Given the description of an element on the screen output the (x, y) to click on. 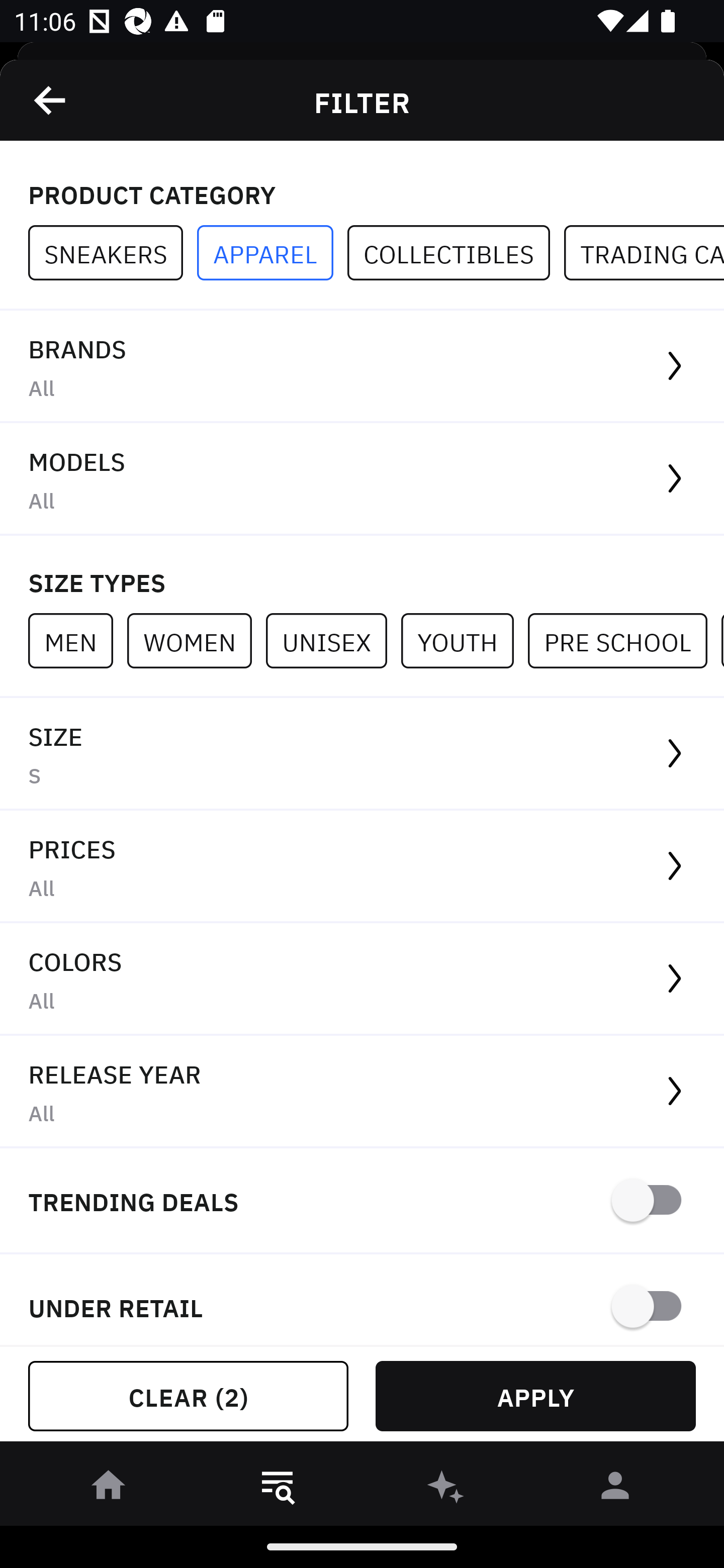
 (50, 100)
SNEAKERS (112, 252)
APPAREL (271, 252)
COLLECTIBLES (455, 252)
TRADING CARDS (643, 252)
BRANDS All (362, 366)
MODELS All (362, 479)
MEN (77, 640)
WOMEN (196, 640)
UNISEX (333, 640)
YOUTH (464, 640)
PRE SCHOOL (624, 640)
SIZE S (362, 753)
PRICES All (362, 866)
COLORS All (362, 979)
RELEASE YEAR All (362, 1091)
TRENDING DEALS (362, 1200)
UNDER RETAIL (362, 1299)
CLEAR (2) (188, 1396)
APPLY (535, 1396)
󰋜 (108, 1488)
󱎸 (277, 1488)
󰫢 (446, 1488)
󰀄 (615, 1488)
